Given the description of an element on the screen output the (x, y) to click on. 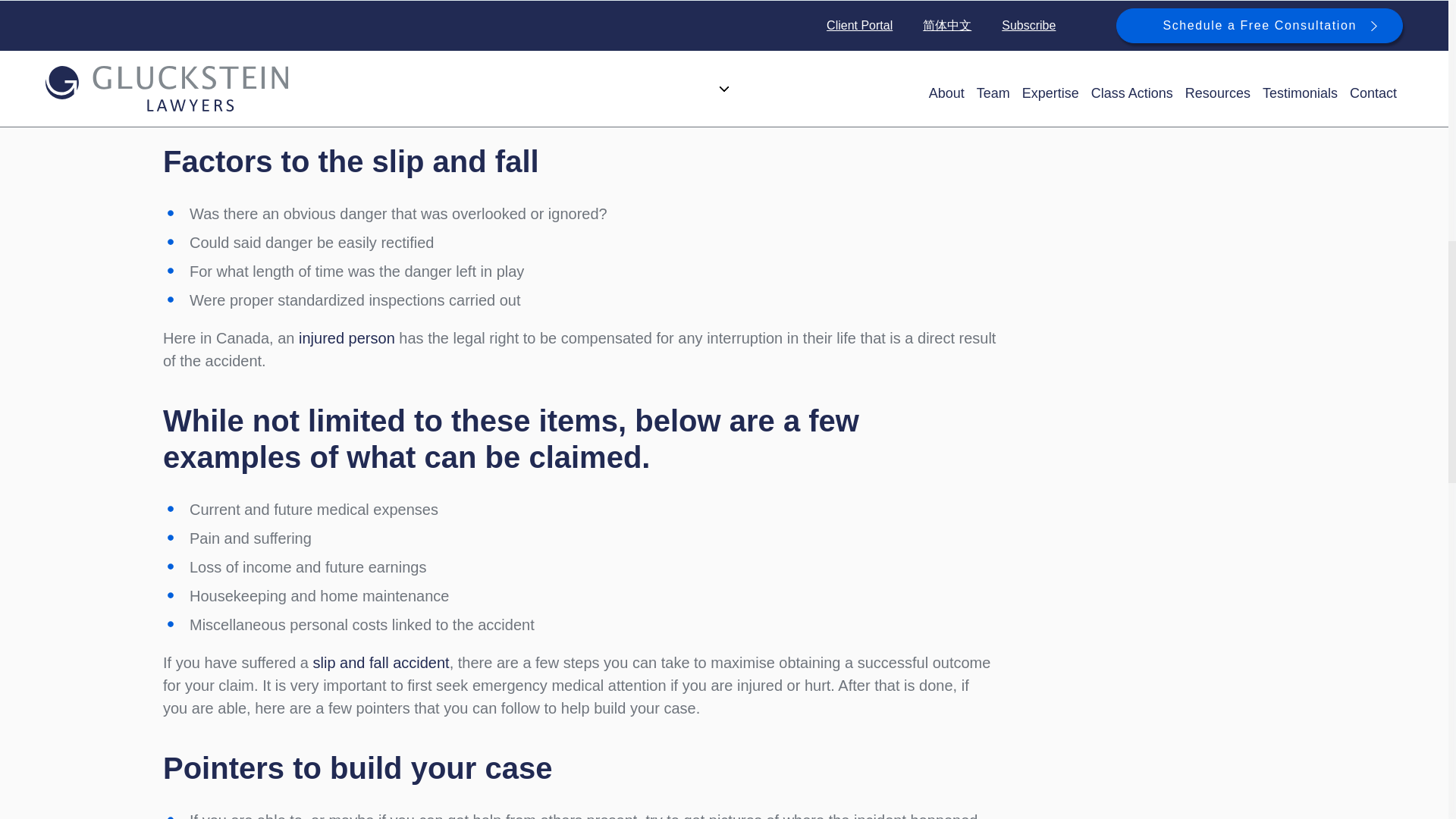
Click here to view Slip and Fall Accidents (381, 662)
Click here to view Personal Injury Law (346, 338)
